Given the description of an element on the screen output the (x, y) to click on. 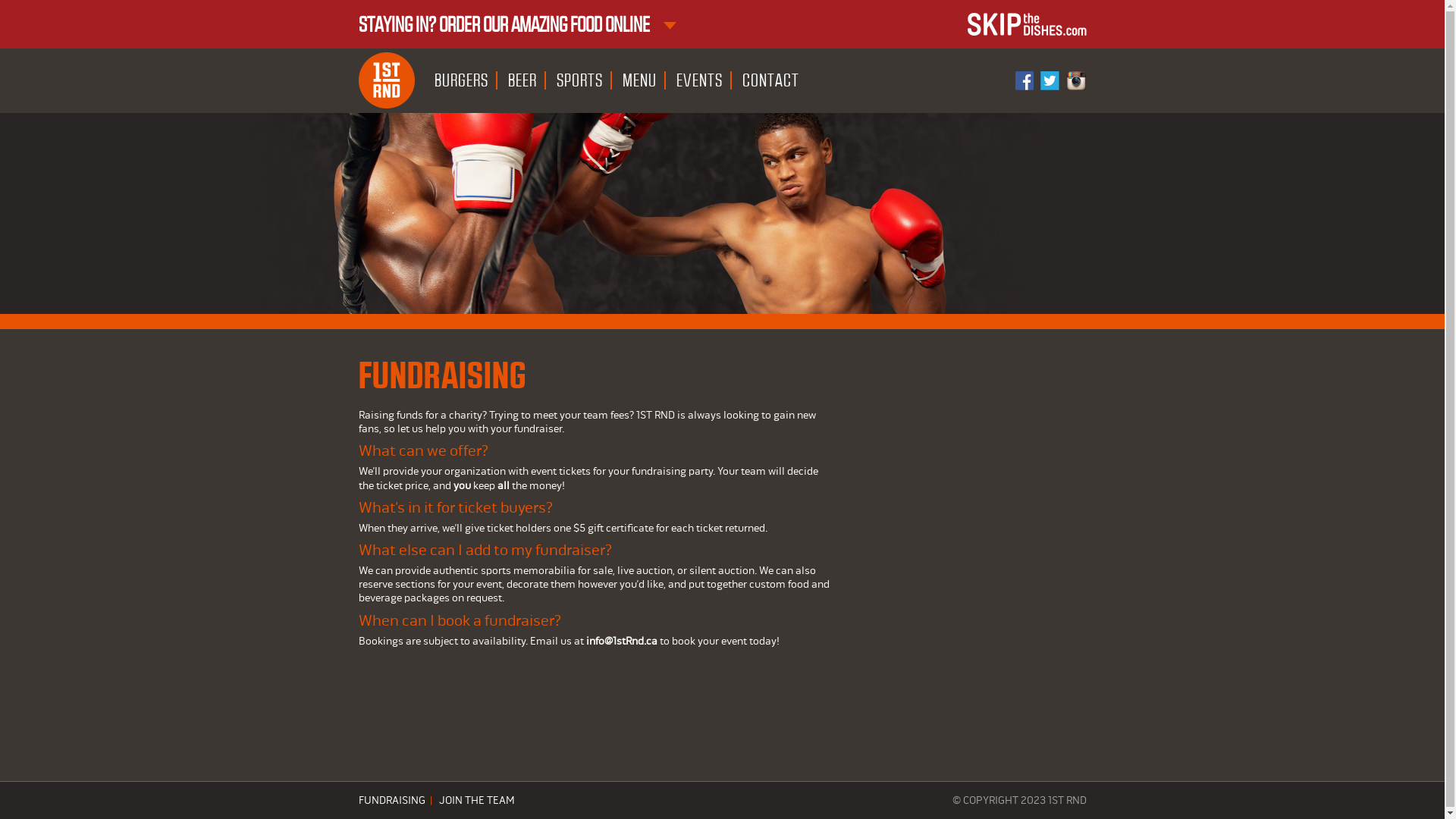
JOIN THE TEAM Element type: text (476, 800)
Facebook Element type: hover (1024, 80)
Home Element type: hover (385, 80)
Twitter Element type: hover (1050, 80)
MENU Element type: text (639, 80)
EVENTS Element type: text (699, 80)
Instagram Element type: hover (1074, 80)
BURGERS Element type: text (461, 80)
FUNDRAISING Element type: text (390, 800)
BEER Element type: text (523, 80)
info@1stRnd.ca Element type: text (620, 640)
SPORTS Element type: text (580, 80)
CONTACT Element type: text (770, 80)
